Given the description of an element on the screen output the (x, y) to click on. 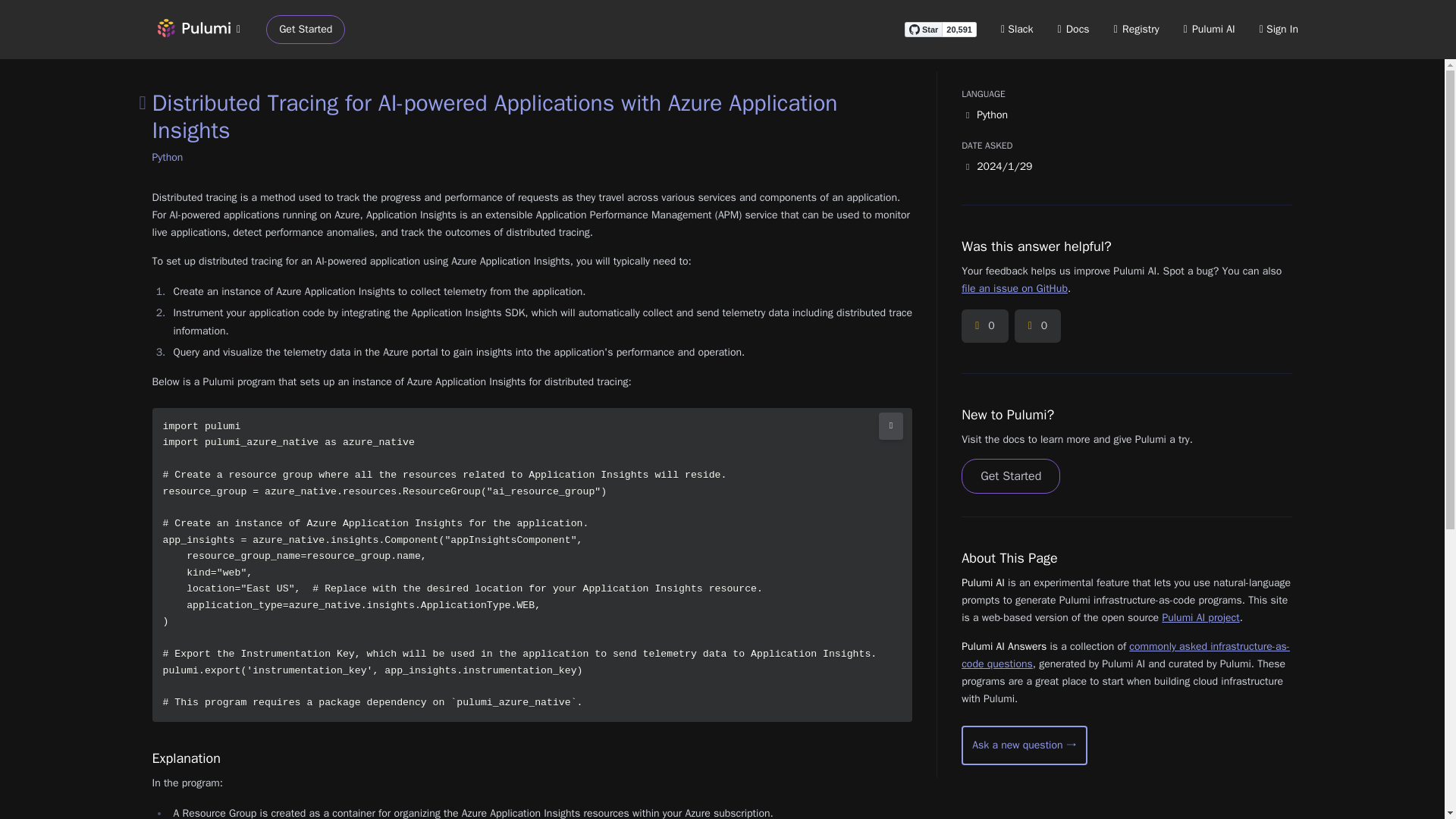
file an issue on GitHub (1013, 287)
 Star (923, 29)
Registry (1135, 29)
Slack (1017, 29)
Pulumi AI (1208, 29)
Start a new conversation with Pulumi AI (1023, 744)
20,591 (959, 29)
0 (1037, 326)
Upvote this answer (984, 326)
Sign In (1278, 29)
Get Started (305, 29)
Docs (1073, 29)
0 (984, 326)
Downvote this answer (1037, 326)
